Given the description of an element on the screen output the (x, y) to click on. 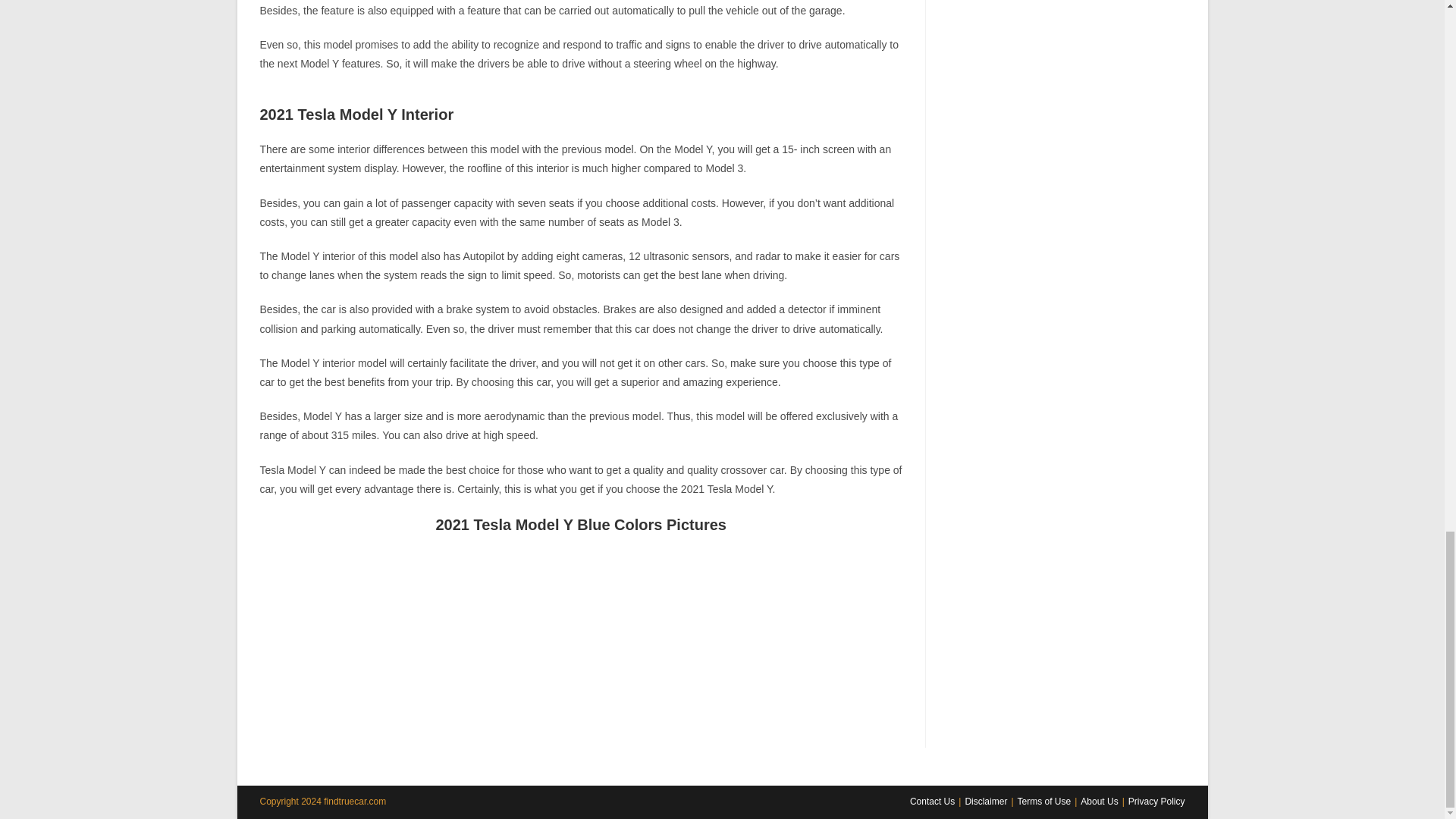
Terms of Use (1044, 801)
Privacy Policy (1156, 801)
Contact Us (932, 801)
Disclaimer (985, 801)
About Us (1099, 801)
